Given the description of an element on the screen output the (x, y) to click on. 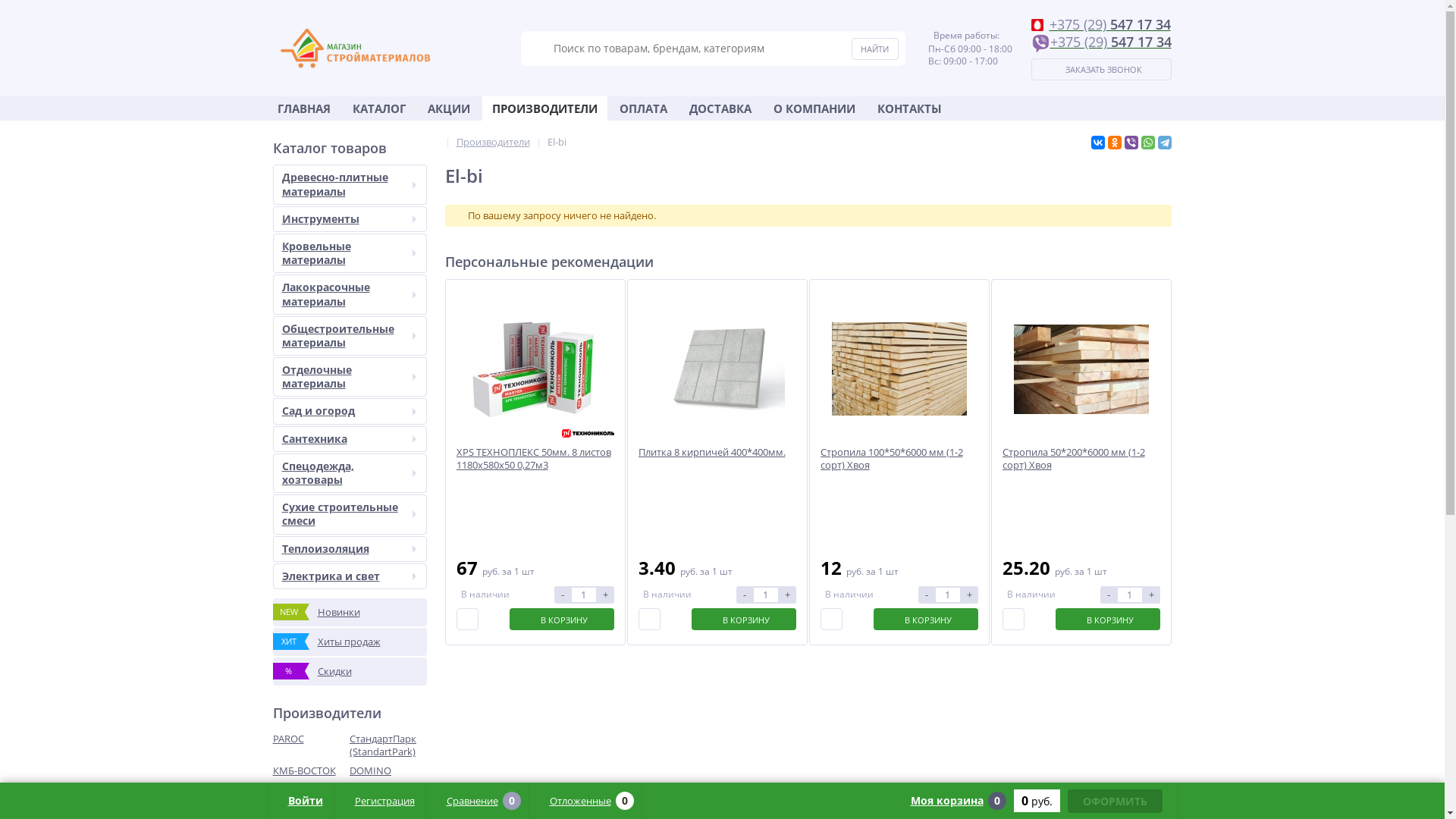
+ Element type: text (787, 594)
- Element type: text (1107, 594)
+375 (29) 547 17 34 Element type: text (1101, 24)
Lugaabrasiv Element type: text (387, 789)
DIAGER Element type: text (387, 808)
- Element type: text (925, 594)
+ Element type: text (605, 594)
+ Element type: text (969, 594)
Viber Element type: hover (1130, 142)
+ Element type: text (1151, 594)
WhatsApp Element type: hover (1147, 142)
- Element type: text (561, 594)
Telegram Element type: hover (1163, 142)
+375 (29) 547 17 34 Element type: text (1101, 43)
- Element type: text (743, 594)
DOMINO Element type: text (387, 770)
PAROC Element type: text (311, 738)
